Given the description of an element on the screen output the (x, y) to click on. 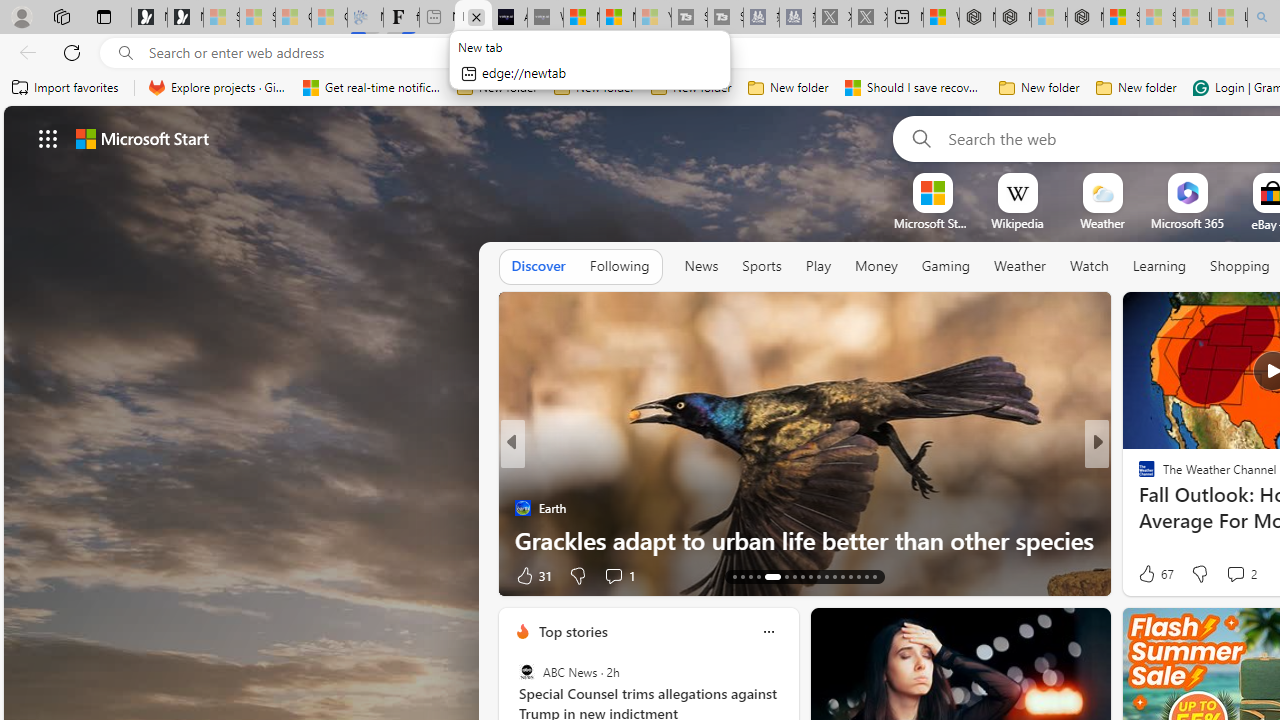
128 Like (1151, 574)
Weather (1020, 265)
26 Like (1149, 574)
More Options (1219, 179)
Tab actions menu (104, 16)
AutomationID: tab-17 (733, 576)
Money (876, 267)
AutomationID: tab-29 (842, 576)
Microsoft Start (617, 17)
Personal Profile (21, 16)
Weather (1019, 267)
Tom's Guide (1138, 475)
Gaming (945, 267)
